Given the description of an element on the screen output the (x, y) to click on. 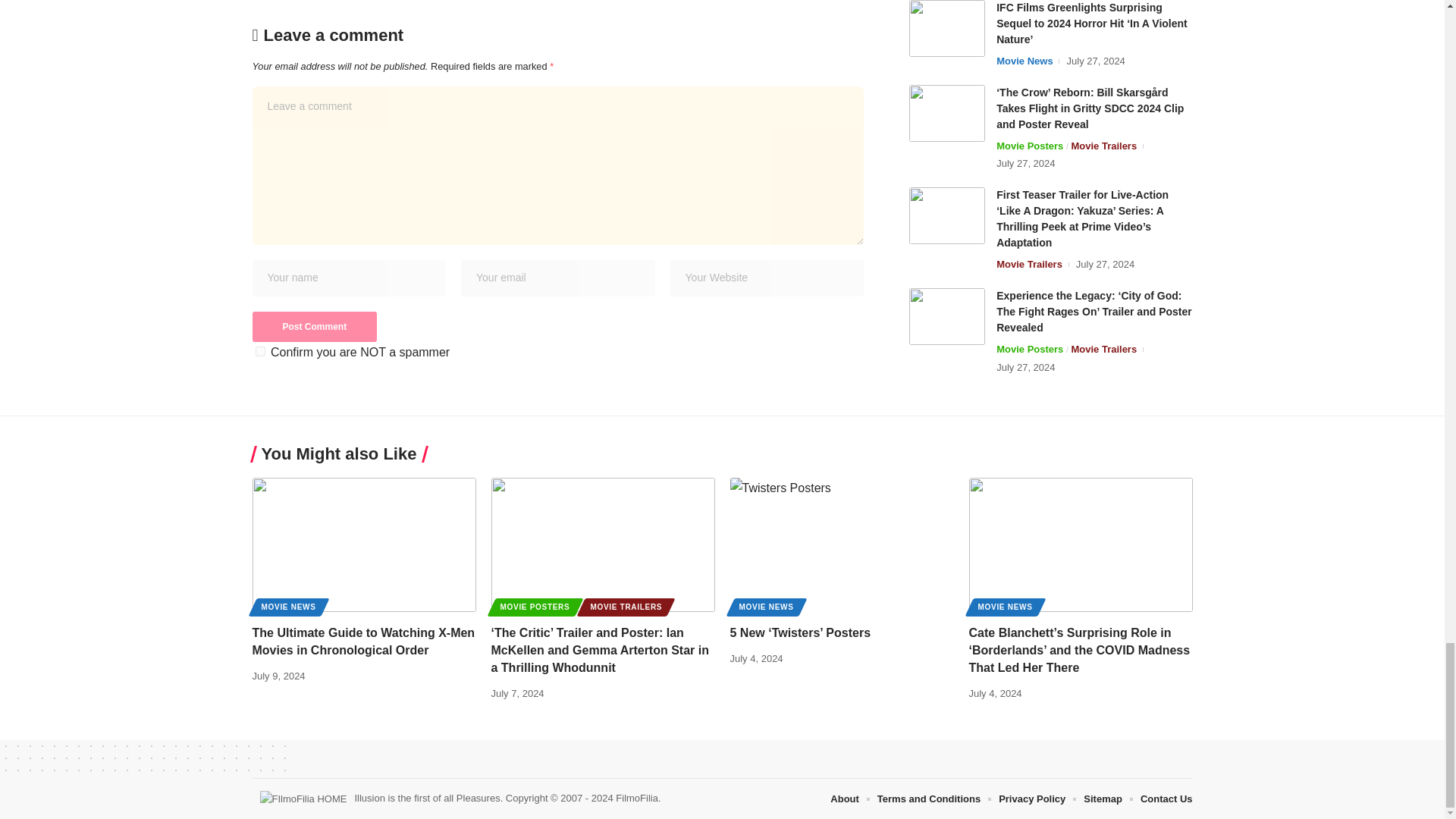
Post Comment (314, 327)
on (259, 351)
